Given the description of an element on the screen output the (x, y) to click on. 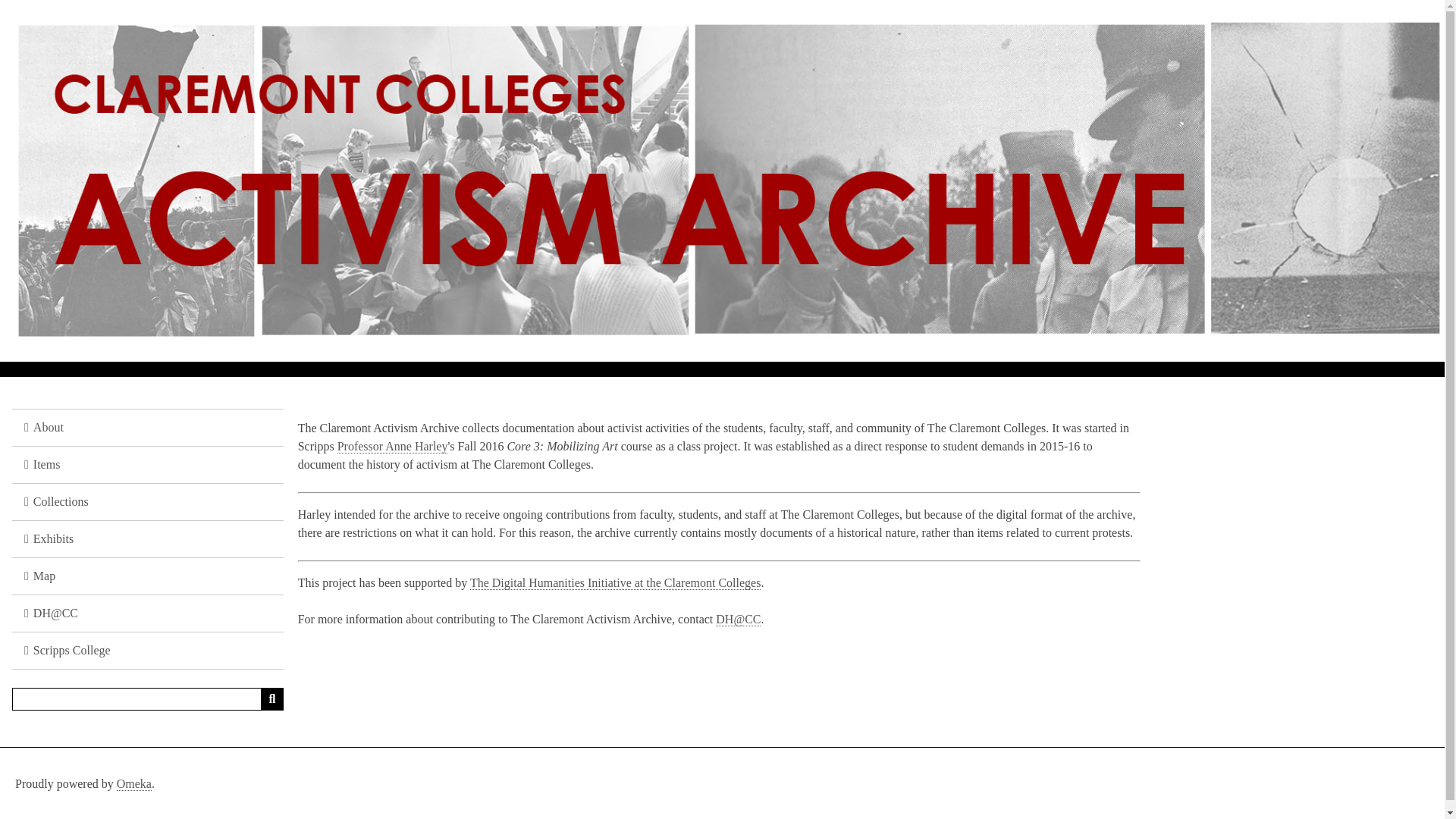
Collections (147, 502)
Items (147, 465)
Professor Anne Harley (392, 446)
The Digital Humanities Initiative at the Claremont Colleges (615, 582)
Map (147, 576)
Submit (271, 698)
Query (147, 698)
Submit (271, 698)
Omeka (133, 784)
Exhibits (147, 538)
